Given the description of an element on the screen output the (x, y) to click on. 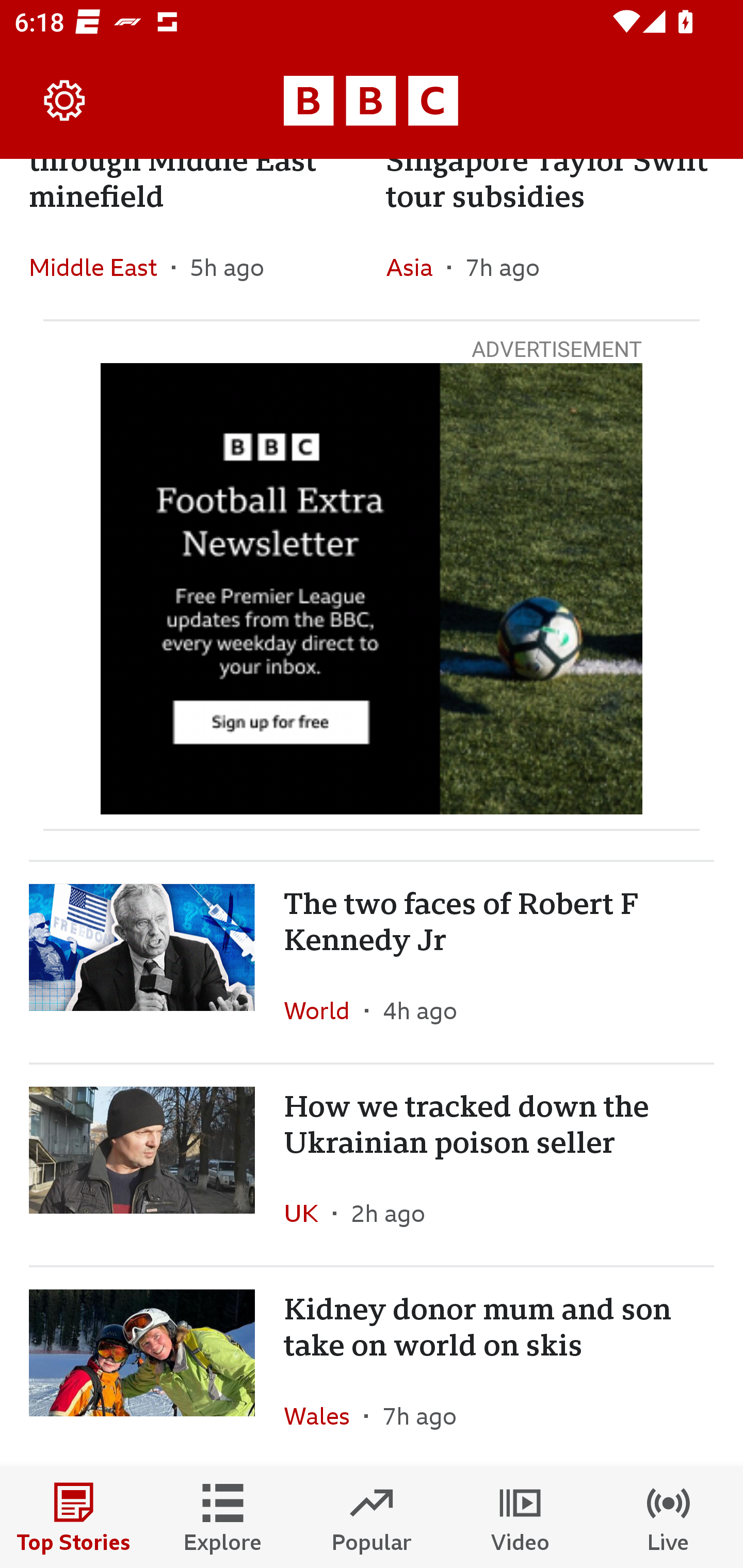
Settings (64, 100)
Middle East In the section Middle East (99, 266)
Asia In the section Asia (416, 266)
World In the section World (323, 1010)
UK In the section UK (307, 1212)
Wales In the section Wales (323, 1415)
Explore (222, 1517)
Popular (371, 1517)
Video (519, 1517)
Live (668, 1517)
